Given the description of an element on the screen output the (x, y) to click on. 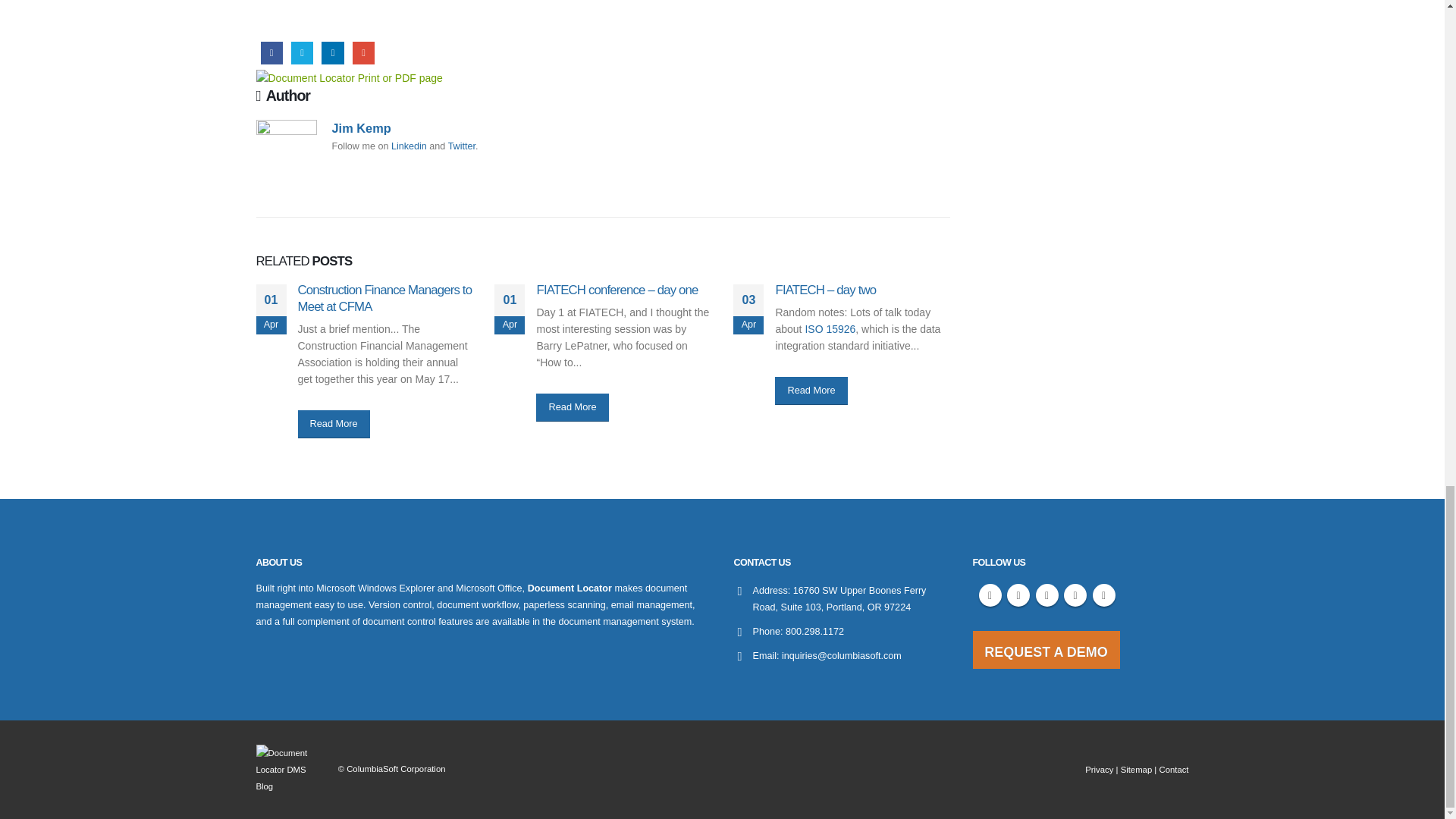
Email (363, 52)
Facebook (271, 52)
LinkedIn (332, 52)
Twitter (302, 52)
